Given the description of an element on the screen output the (x, y) to click on. 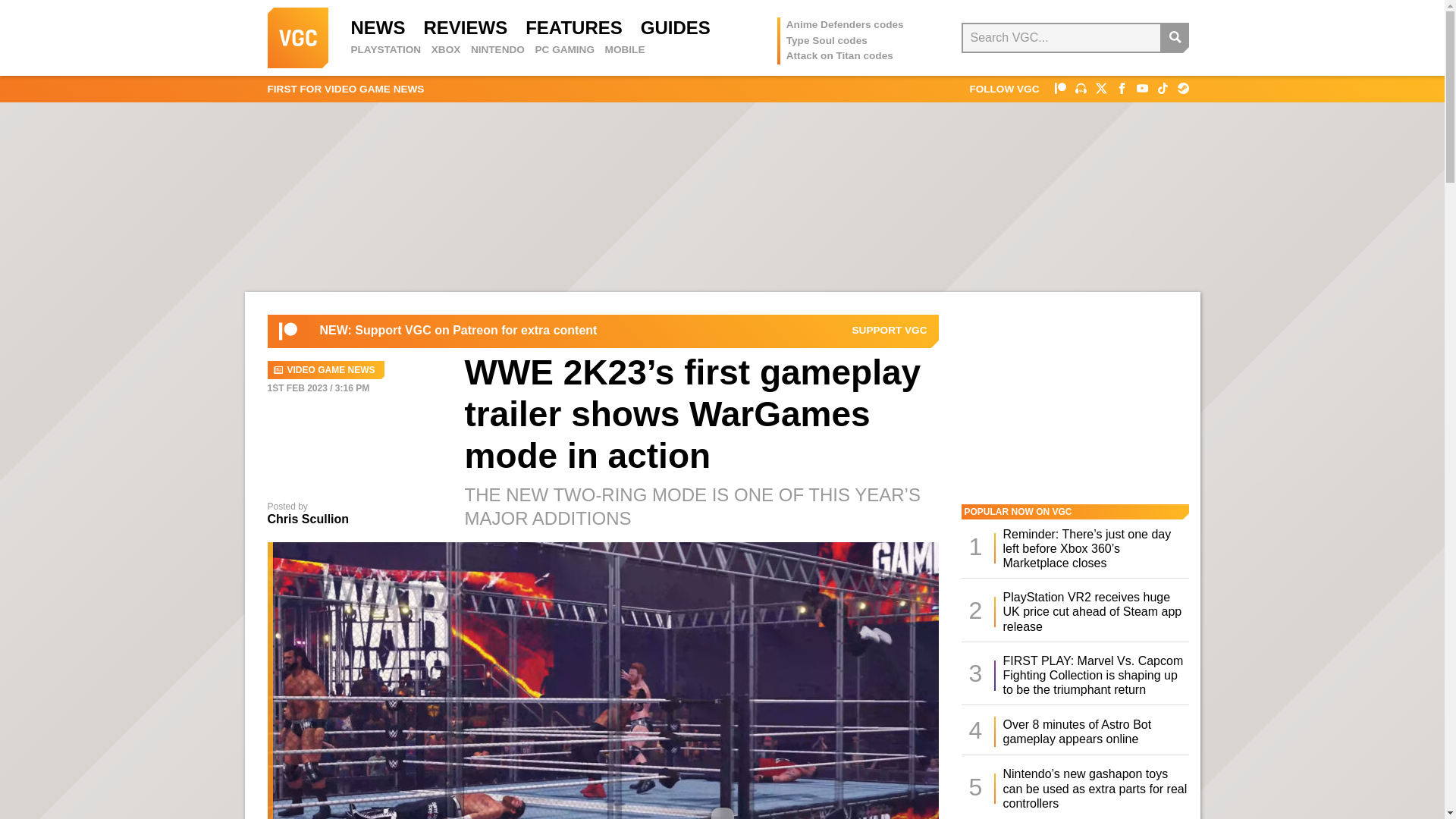
NINTENDO (497, 49)
PC GAMING (564, 49)
Type Soul codes (826, 40)
Attack on Titan codes (839, 55)
PLAYSTATION (385, 49)
GUIDES (675, 27)
VGC on YouTube (1141, 88)
Anime Defenders codes (845, 24)
VGC on Steam Curators (1182, 88)
SUPPORT VGC (889, 330)
MOBILE (625, 49)
VGC (296, 37)
VGC on Patreon (1059, 88)
REVIEWS (464, 27)
Posts by Chris Scullion (307, 518)
